Given the description of an element on the screen output the (x, y) to click on. 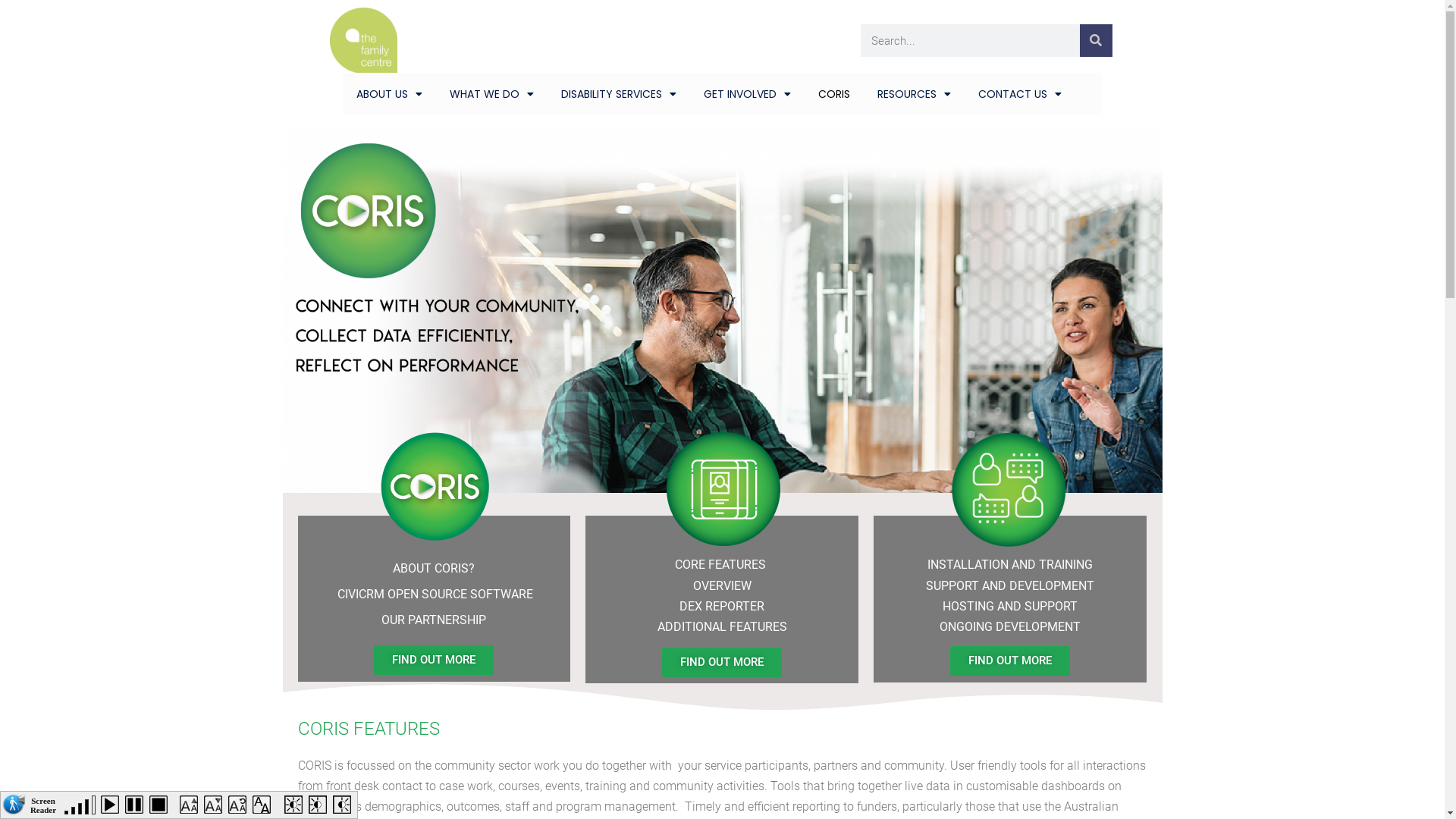
FIND OUT MORE Element type: text (433, 659)
GET INVOLVED Element type: text (747, 93)
FIND OUT MORE Element type: text (1010, 660)
CONTACT US Element type: text (1019, 93)
ABOUT US Element type: text (389, 93)
DISABILITY SERVICES Element type: text (618, 93)
FIND OUT MORE Element type: text (721, 662)
CORIS Element type: text (833, 93)
WHAT WE DO Element type: text (491, 93)
RESOURCES Element type: text (913, 93)
